Given the description of an element on the screen output the (x, y) to click on. 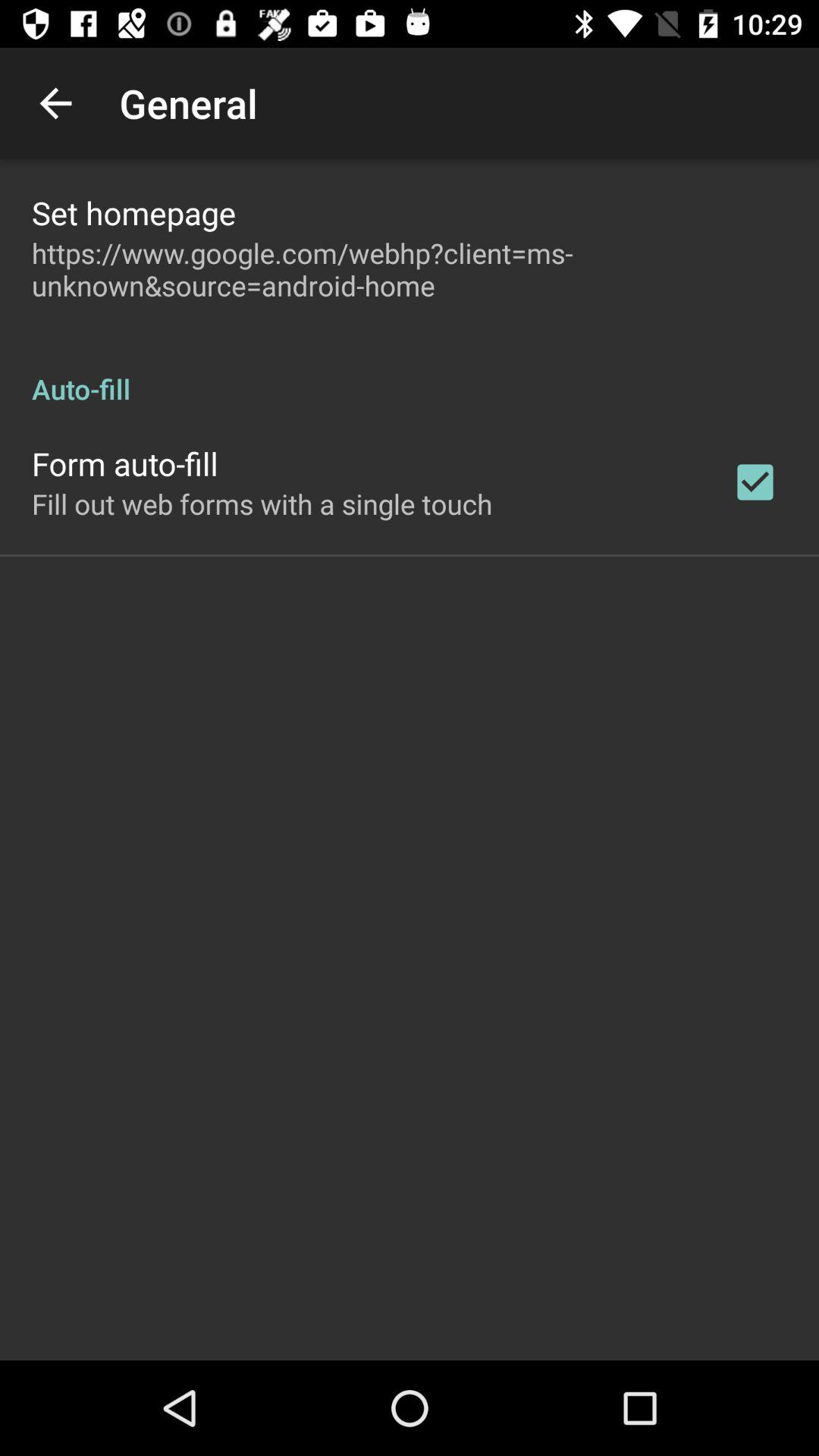
scroll until set homepage item (133, 212)
